Given the description of an element on the screen output the (x, y) to click on. 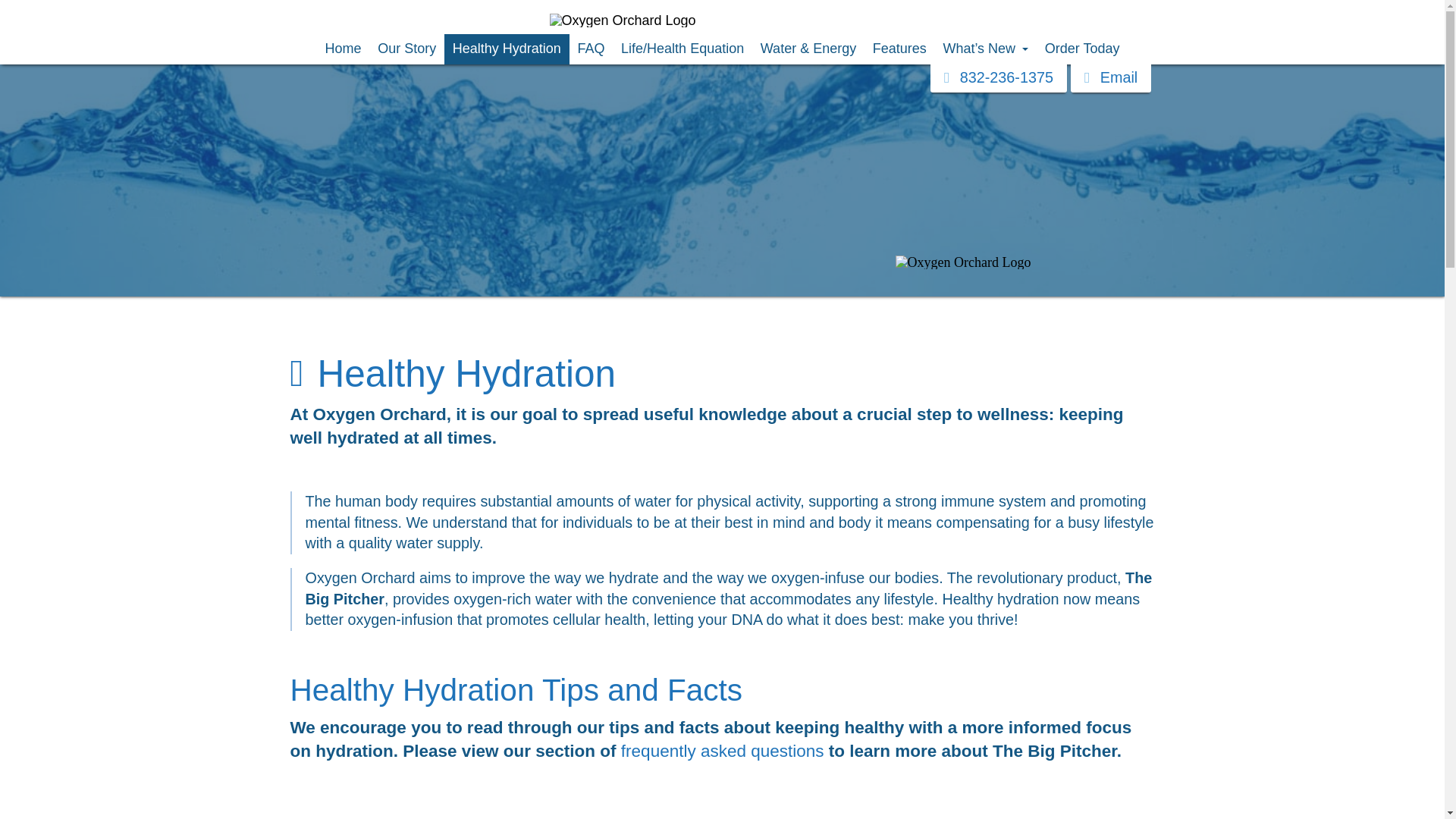
Email (1110, 76)
Order Today (1081, 49)
Order Today (1081, 49)
FAQ (590, 49)
What's New (985, 49)
Our Story (406, 49)
Our Story (406, 49)
FAQ (590, 49)
Features (899, 49)
Home (343, 49)
Home (343, 49)
frequently asked questions (722, 751)
832-236-1375 (997, 76)
Features (899, 49)
Healthy Hydration (506, 49)
